Given the description of an element on the screen output the (x, y) to click on. 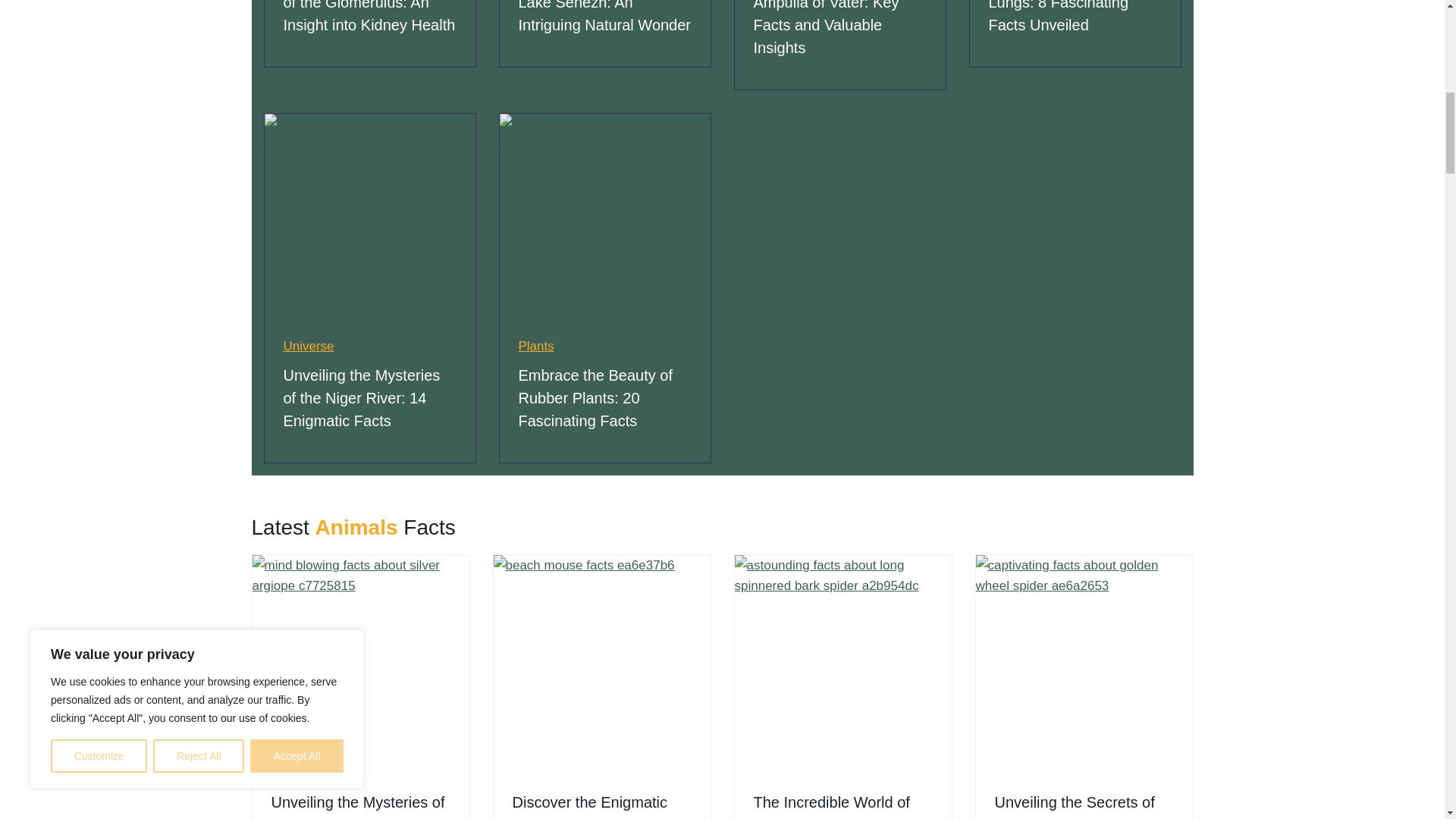
Embrace the Beauty of Rubber Plants: 20 Fascinating Facts 10 (604, 218)
Unveiling the Mysteries of Silver Argiope Spiders 11 (359, 663)
